Given the description of an element on the screen output the (x, y) to click on. 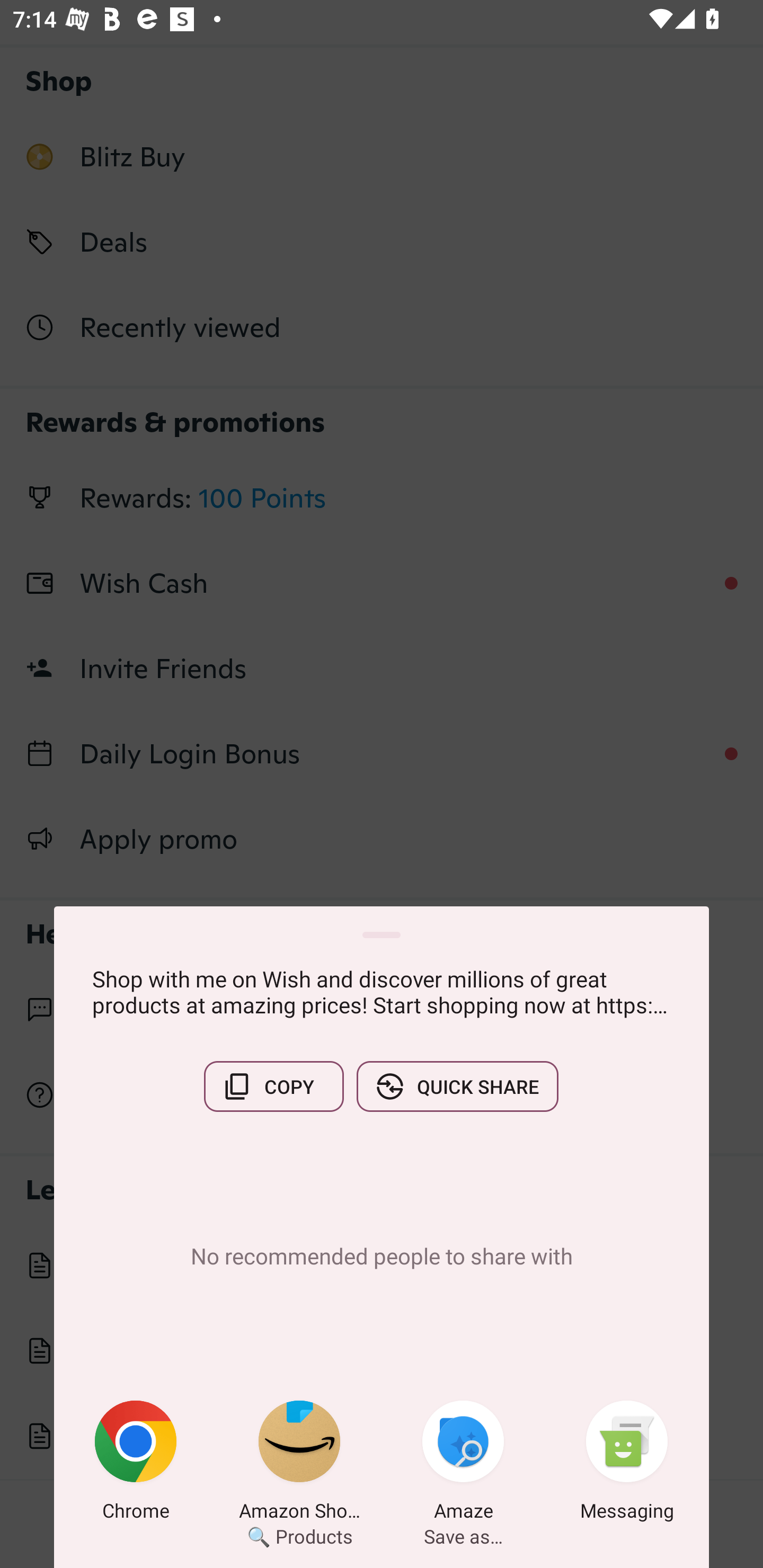
COPY (273, 1086)
QUICK SHARE (457, 1086)
Chrome (135, 1463)
Amazon Shopping 🔍 Products (299, 1463)
Amaze Save as… (463, 1463)
Messaging (626, 1463)
